Given the description of an element on the screen output the (x, y) to click on. 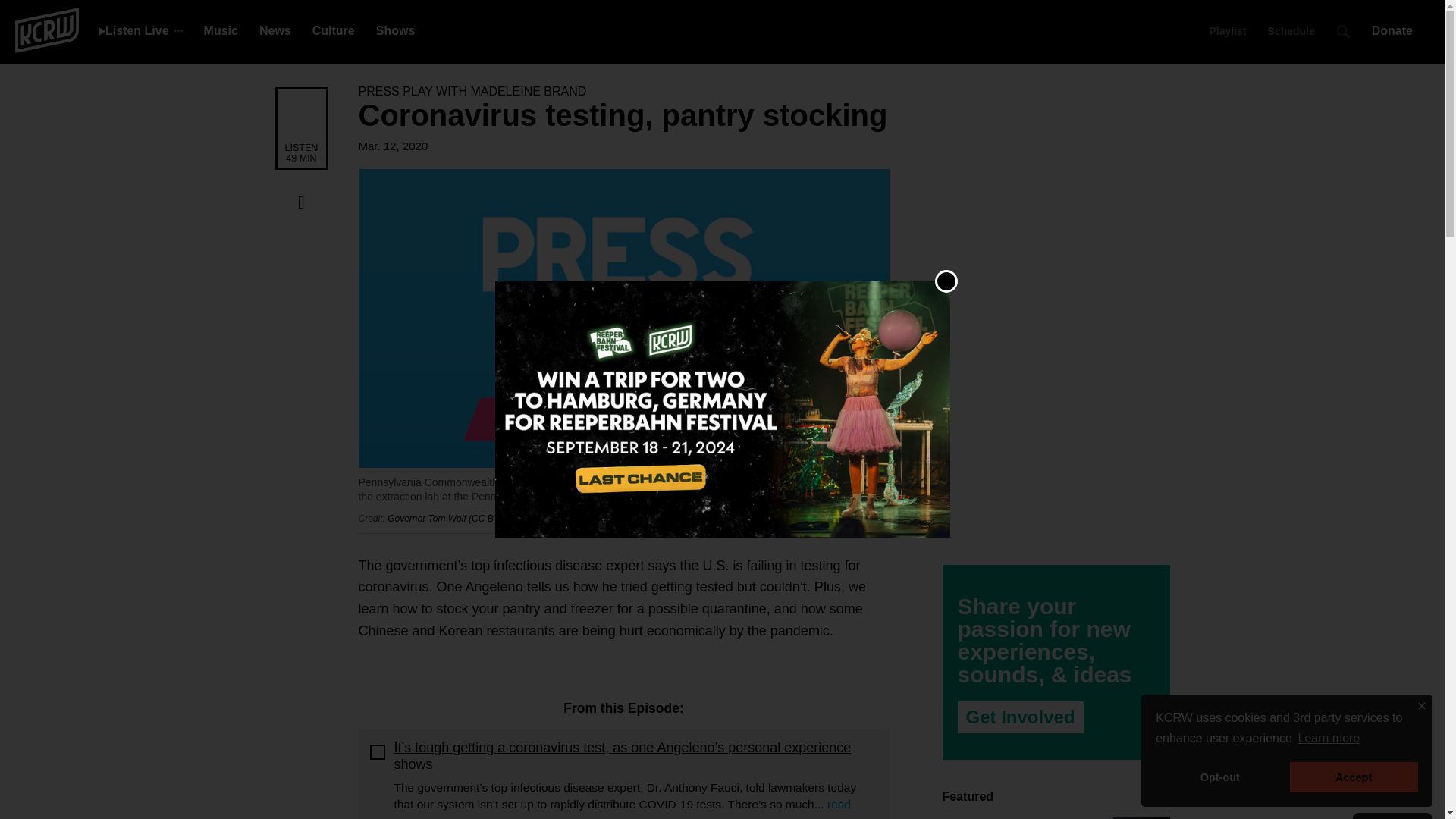
Music (220, 30)
Share on Facebook (301, 202)
Shows (394, 30)
Download Audio (301, 233)
Learn more (1328, 738)
KCRW (46, 29)
Accept (1354, 777)
Get embed code (301, 295)
Donate (1397, 30)
Schedule (1291, 30)
Listen Live (133, 30)
Culture (334, 30)
Opt-out (1220, 777)
Share via Email (301, 326)
PRESS PLAY WITH MADELEINE BRAND (472, 91)
